Given the description of an element on the screen output the (x, y) to click on. 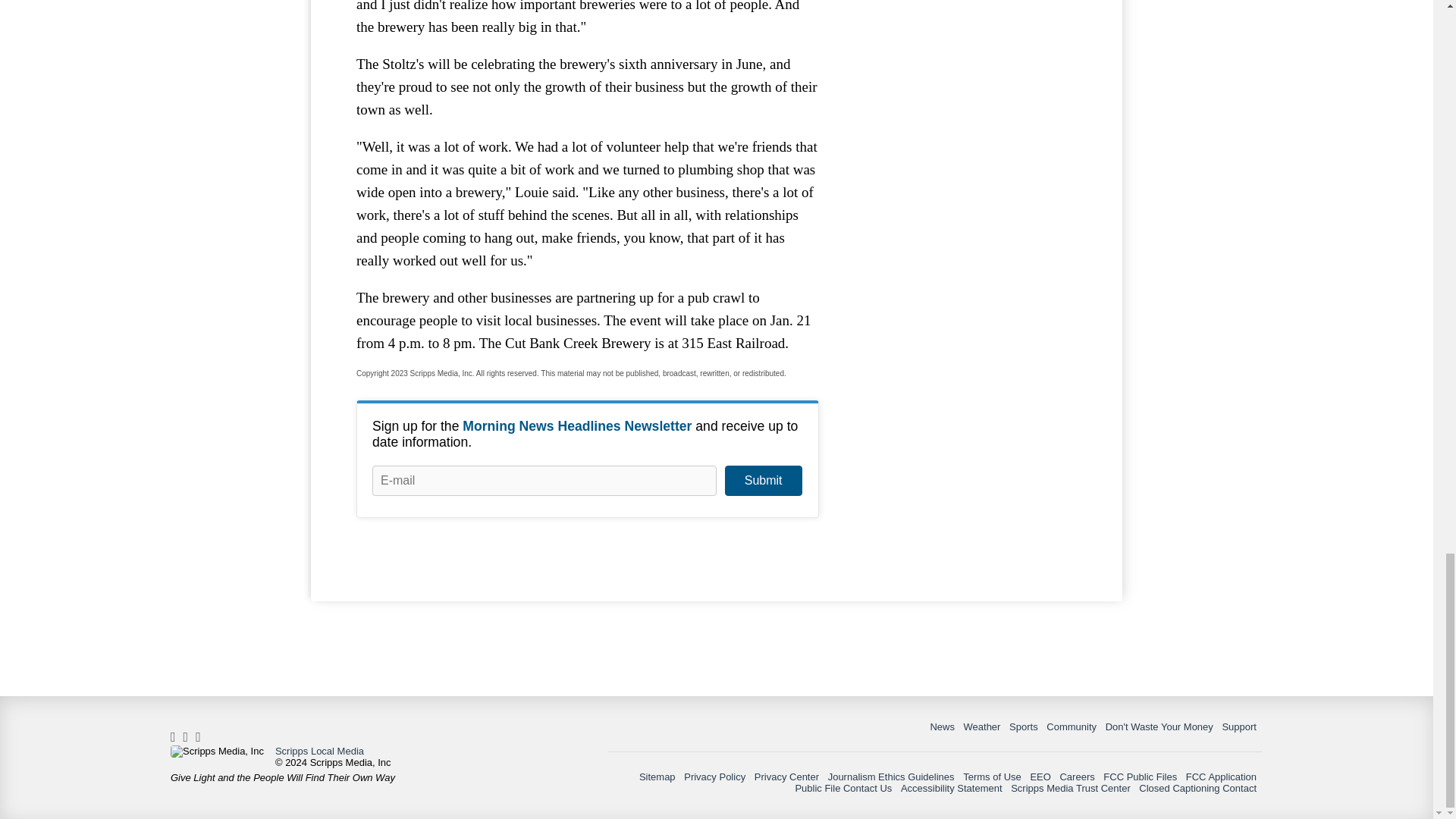
Submit (763, 481)
